Given the description of an element on the screen output the (x, y) to click on. 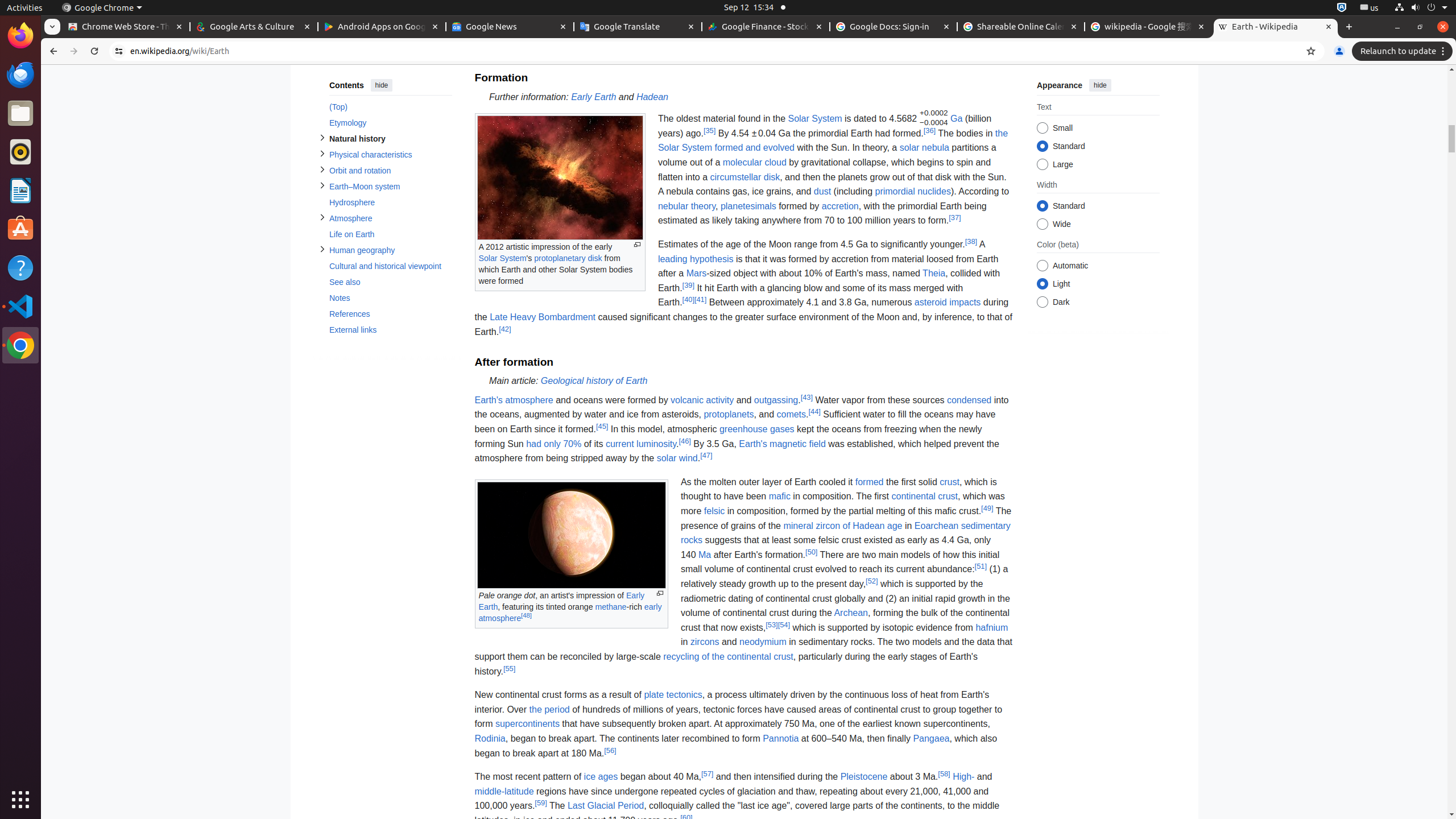
Small Element type: radio-button (1042, 128)
[36] Element type: link (929, 129)
[45] Element type: link (601, 425)
[42] Element type: link (504, 328)
[38] Element type: link (970, 240)
